Given the description of an element on the screen output the (x, y) to click on. 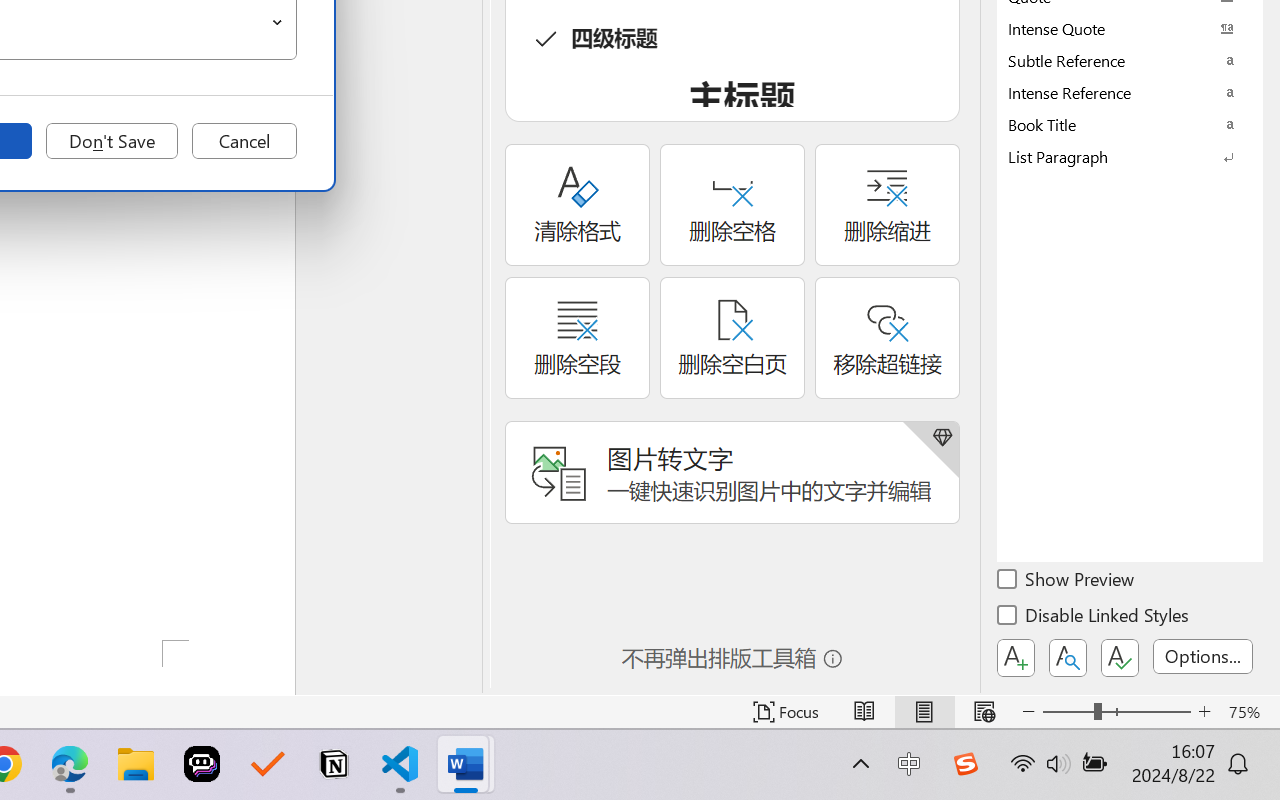
Show Preview (1067, 582)
Zoom (1116, 712)
Subtle Reference (1130, 60)
Class: NetUIButton (1119, 657)
List Paragraph (1130, 156)
Web Layout (984, 712)
